Given the description of an element on the screen output the (x, y) to click on. 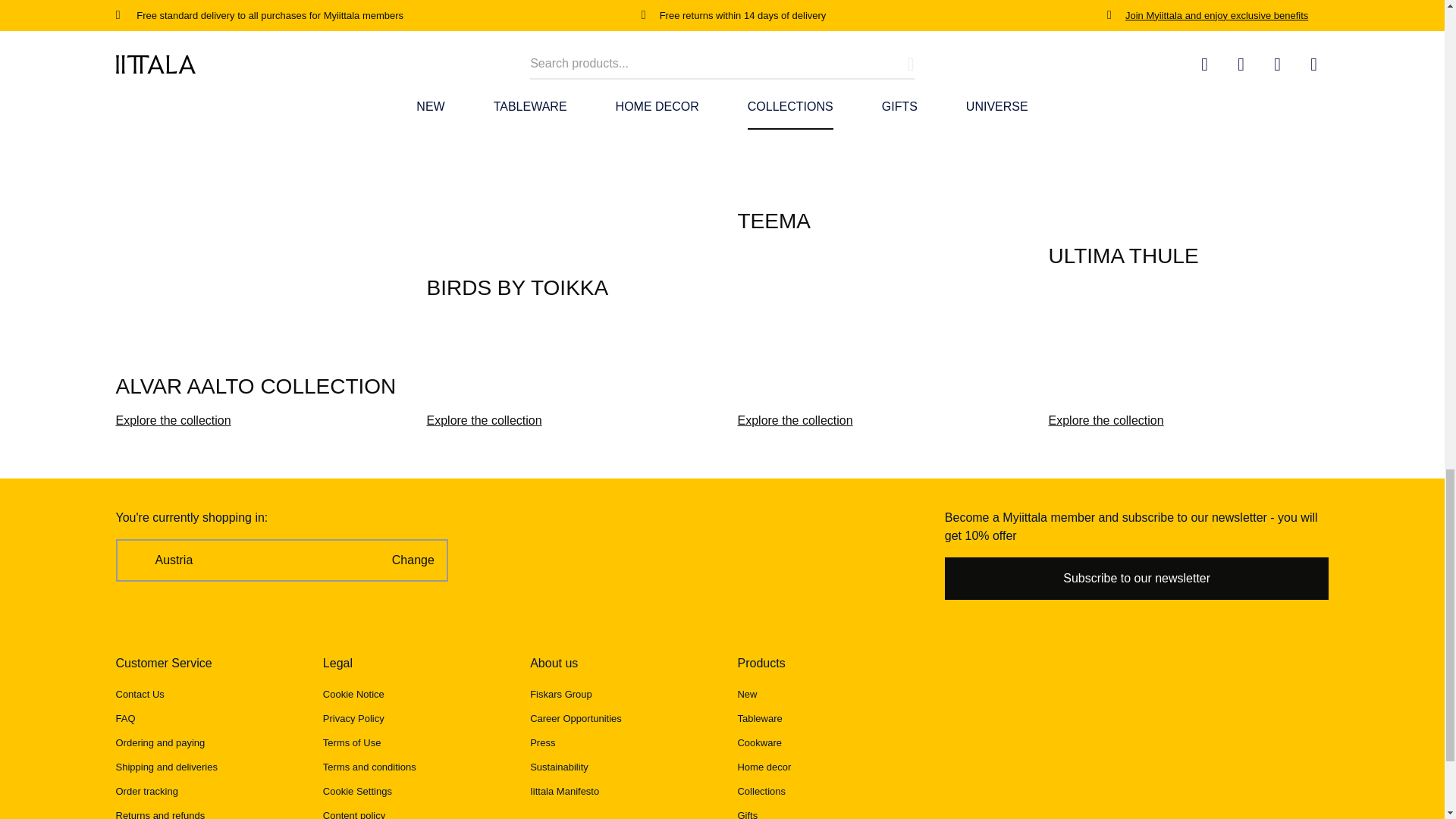
Fiskars Group (560, 694)
Cookware (758, 742)
Terms and conditions (369, 767)
Press (541, 742)
Tableware (758, 717)
New items (746, 694)
Site terms (352, 742)
Career opportunities (575, 717)
Cookie policy (353, 694)
